Given the description of an element on the screen output the (x, y) to click on. 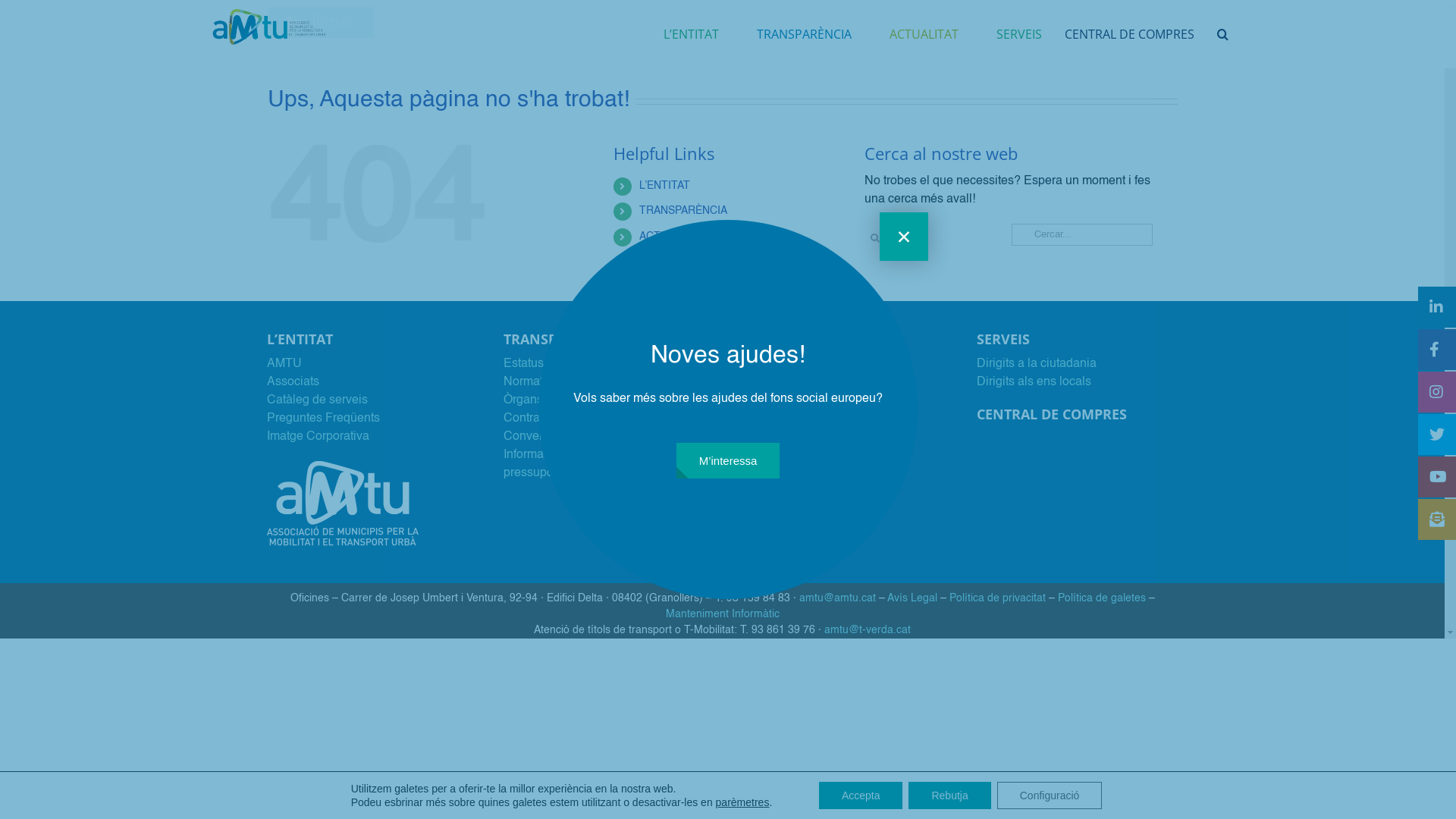
ACTUALITAT Element type: text (923, 34)
amtu@amtu.cat Element type: text (837, 598)
CENTRAL DE COMPRES Element type: text (1129, 34)
Dirigits als ens locals Element type: text (1033, 382)
Tornar Element type: text (316, 22)
SERVEIS Element type: text (661, 262)
Associats Element type: text (292, 382)
IMC Element type: text (751, 382)
AMTU Element type: text (283, 363)
Arxius Visuals Element type: text (778, 527)
AMTU Element type: hover (342, 499)
Dirigits a la ciutadania Element type: text (1036, 363)
Accepta Element type: text (861, 795)
Rebutja Element type: text (949, 795)
CENTRAL DE COMPRES Element type: text (700, 287)
ACTUALITAT Element type: text (670, 236)
Imatge Corporativa Element type: text (317, 436)
SERVEIS Element type: text (1019, 34)
Notes de premsa Element type: text (785, 436)
Normativa que ens afecta Element type: text (571, 382)
MobiliCat Element type: text (765, 418)
Convenis Element type: text (529, 436)
amtu@t-verda.cat Element type: text (867, 629)
Fires Element type: text (753, 400)
Cerca Element type: hover (1222, 34)
Jornada Element type: text (762, 363)
Projectes Element type: text (765, 491)
